Given the description of an element on the screen output the (x, y) to click on. 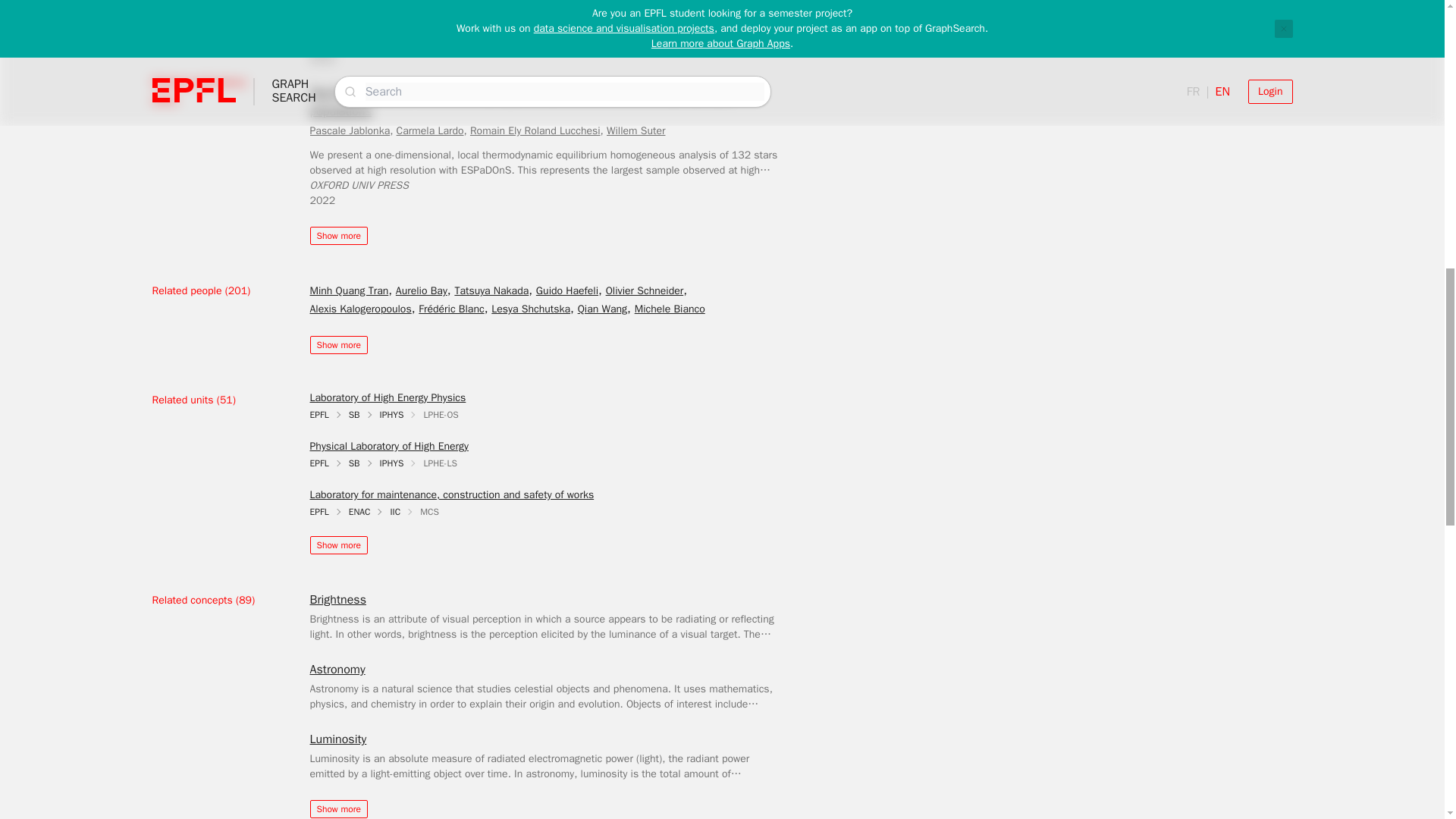
Guido Haefeli (566, 290)
Romain Ely Roland Lucchesi (534, 130)
Minh Quang Tran (348, 290)
Pascale Jablonka (349, 130)
Tatsuya Nakada (491, 290)
Willem Suter (636, 130)
Show more (337, 235)
Aurelio Bay (421, 290)
Carmela Lardo (430, 130)
